Given the description of an element on the screen output the (x, y) to click on. 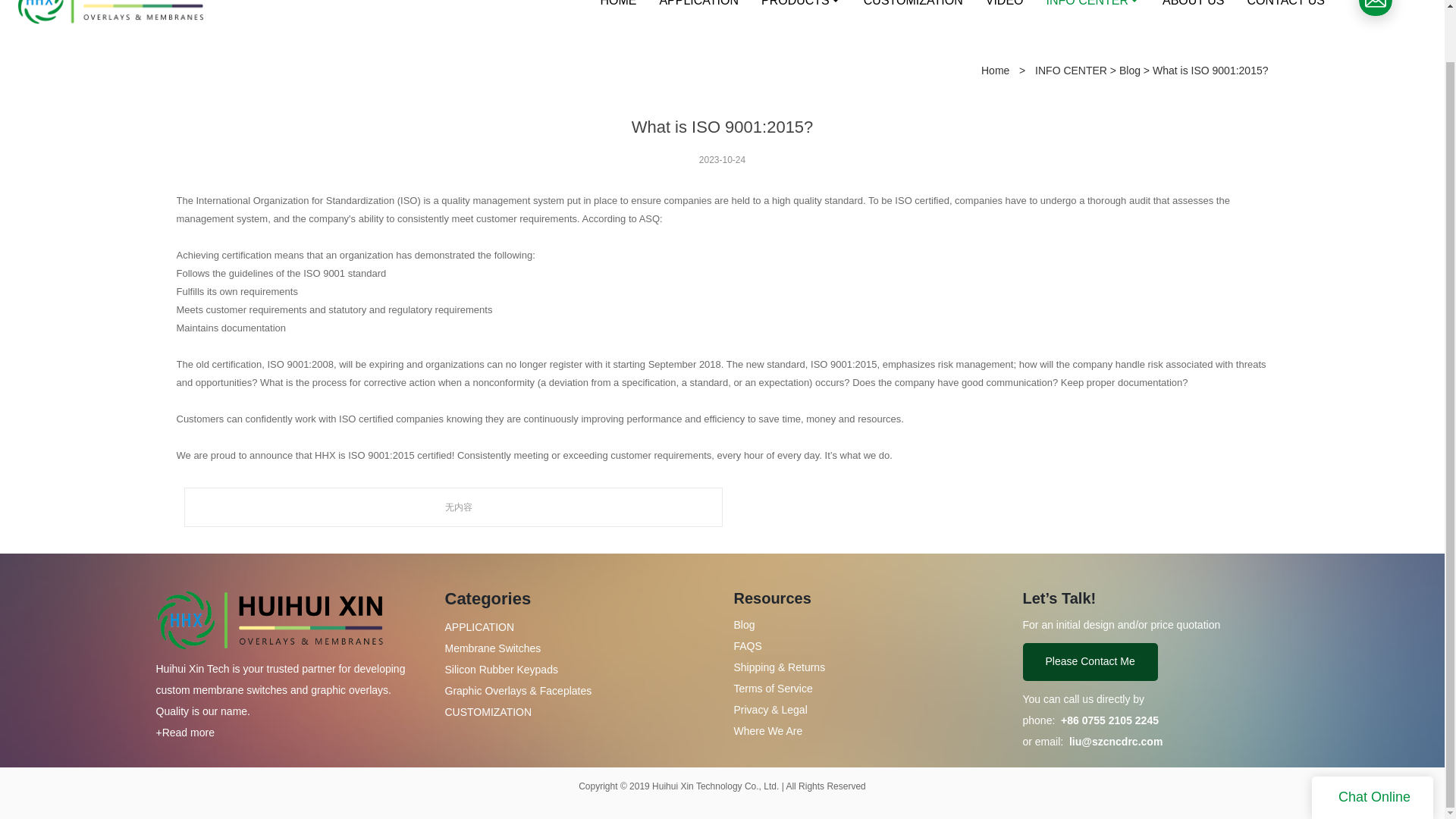
ABOUT US (1193, 17)
PRODUCTS (800, 17)
Terms of Service     (779, 688)
Home (995, 70)
CUSTOMIZATION (912, 17)
Membrane Switches (492, 648)
APPLICATION (478, 626)
APPLICATION (698, 17)
Silicon Rubber Keypads (500, 669)
Blog (1129, 70)
HOME (617, 17)
Blog (744, 624)
CONTACT US (1286, 17)
CUSTOMIZATION (487, 711)
